Given the description of an element on the screen output the (x, y) to click on. 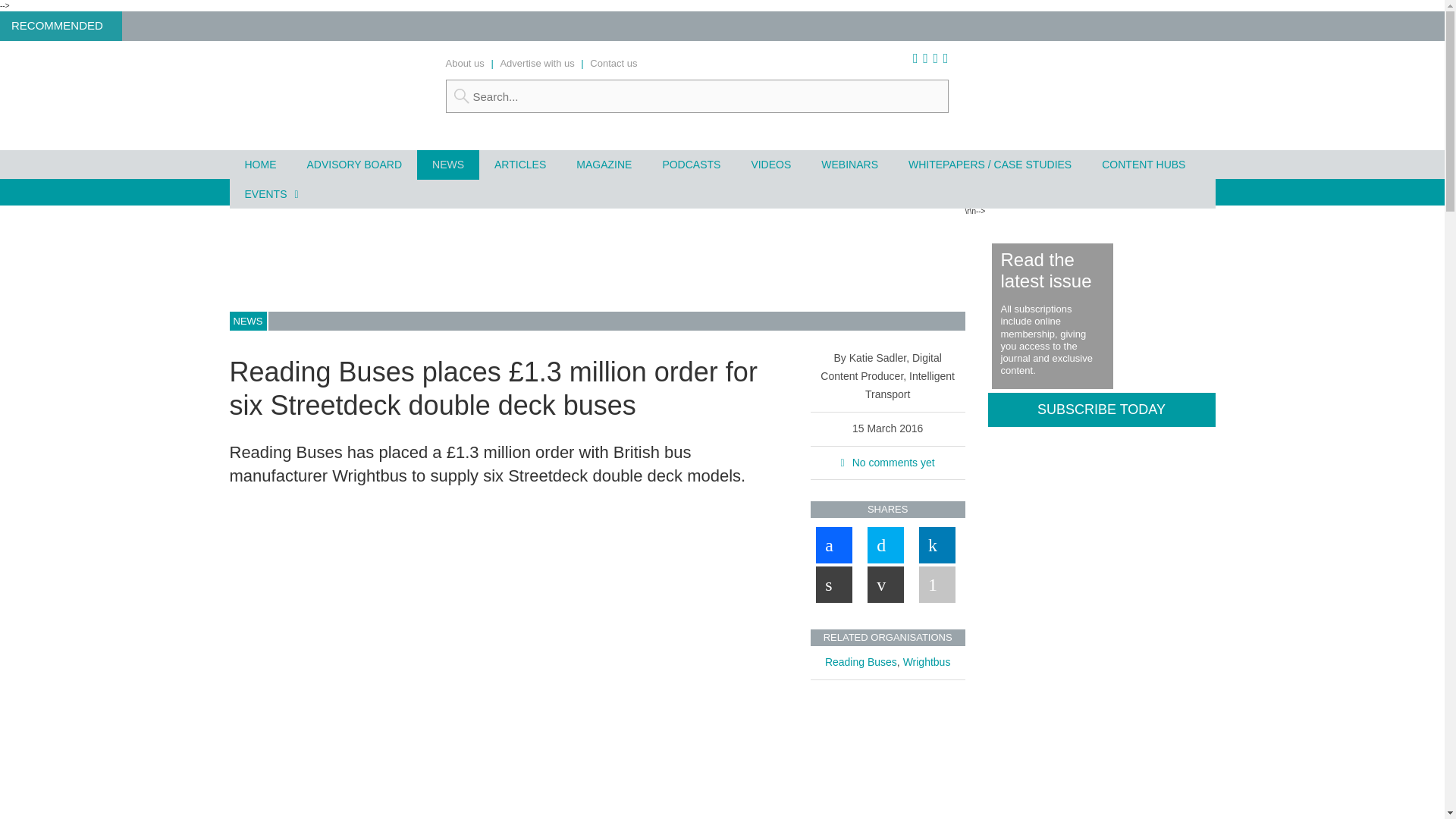
CONTENT HUBS (1142, 164)
PODCASTS (690, 164)
Search (697, 96)
Contact us (613, 62)
WEBINARS (849, 164)
HOME (259, 164)
MAGAZINE (603, 164)
VIDEOS (770, 164)
Advertise with us (536, 62)
NEWS (447, 164)
ARTICLES (519, 164)
ADVISORY BOARD (353, 164)
About us (464, 62)
